Given the description of an element on the screen output the (x, y) to click on. 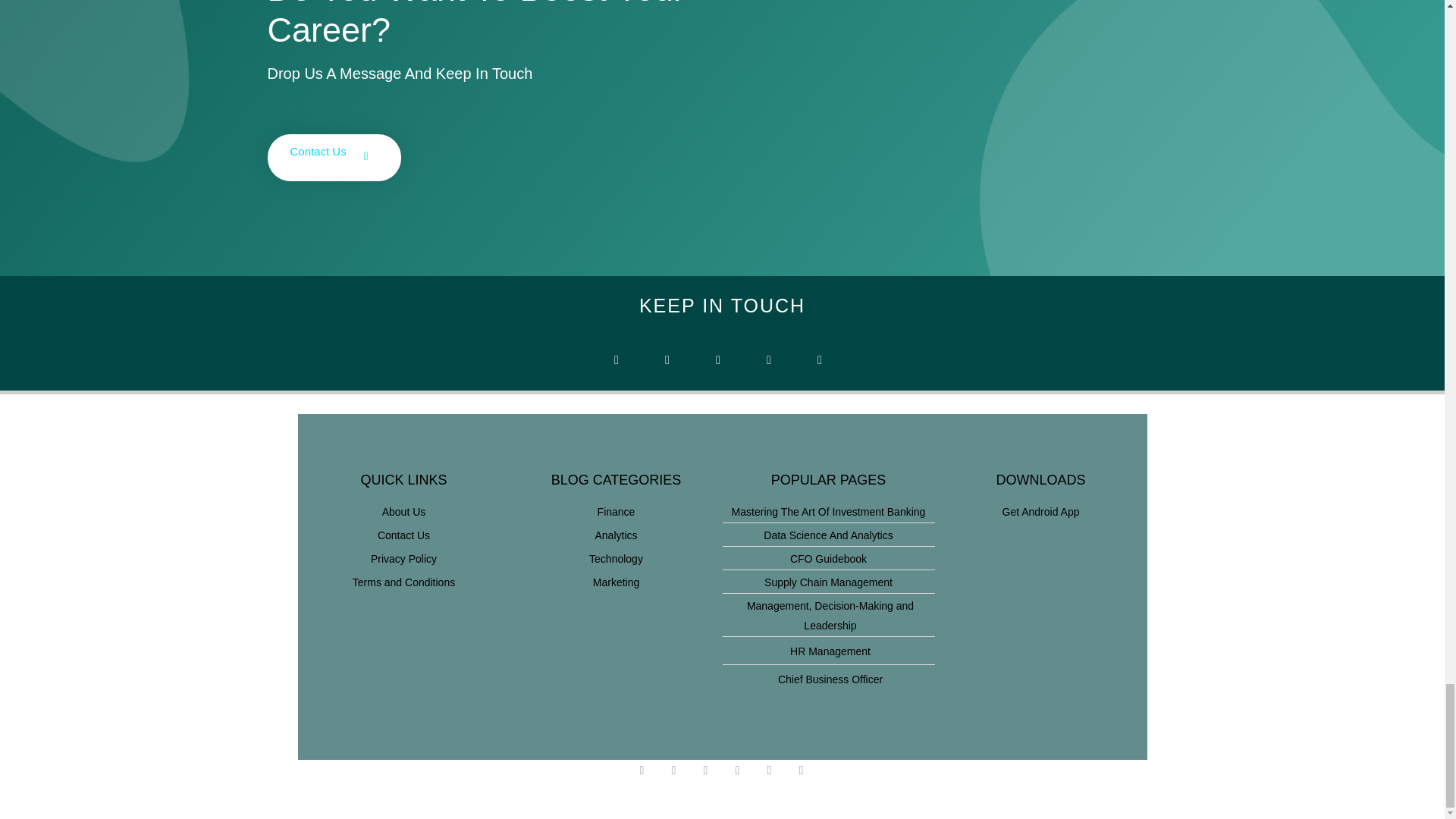
Contact Us (403, 535)
Terms and Conditions (403, 582)
Contact Us (333, 157)
About Us (403, 511)
Privacy Policy (403, 558)
